Given the description of an element on the screen output the (x, y) to click on. 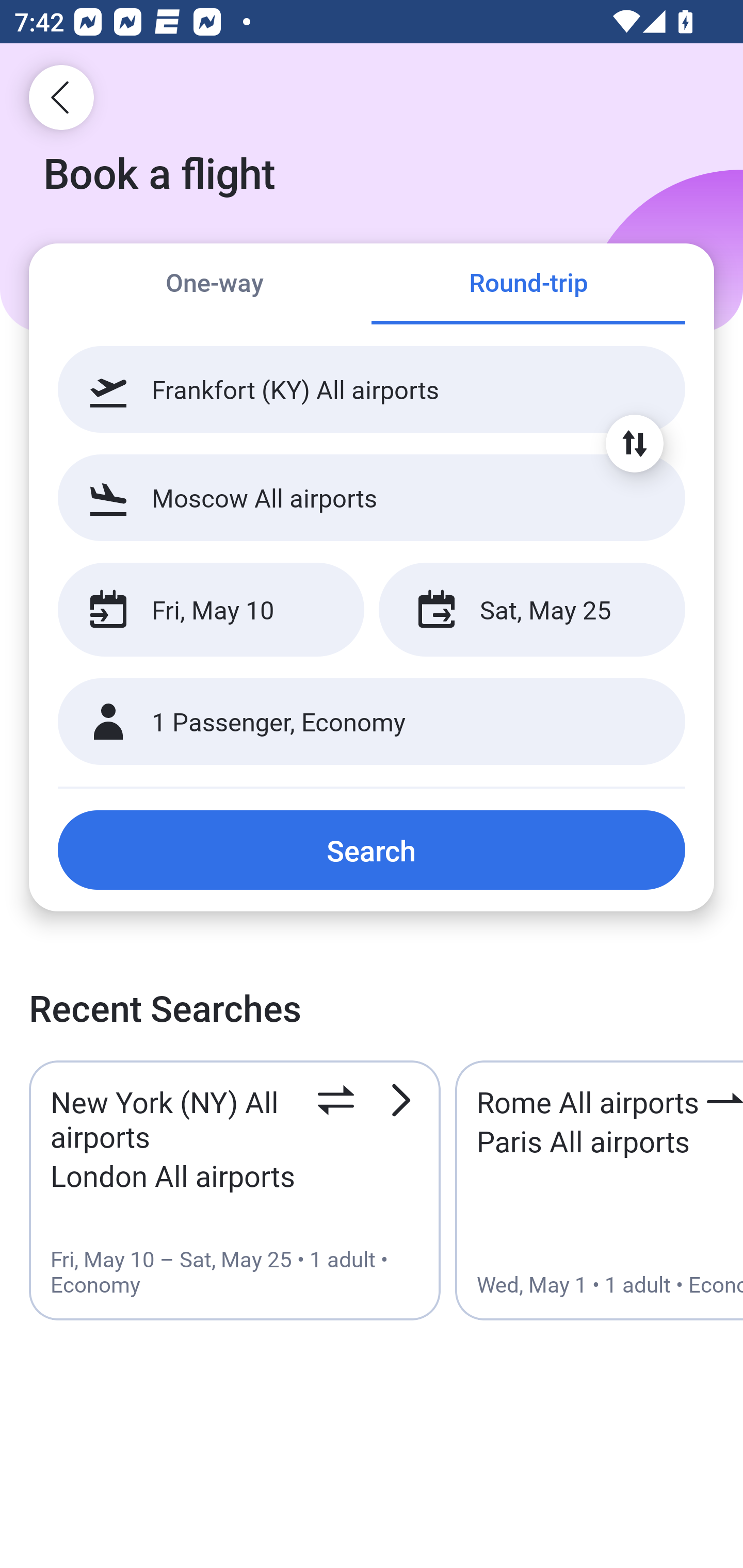
One-way (214, 284)
Frankfort (KY) All airports (371, 389)
Moscow All airports (371, 497)
Fri, May 10 (210, 609)
Sat, May 25 (531, 609)
1 Passenger, Economy (371, 721)
Search (371, 849)
